Given the description of an element on the screen output the (x, y) to click on. 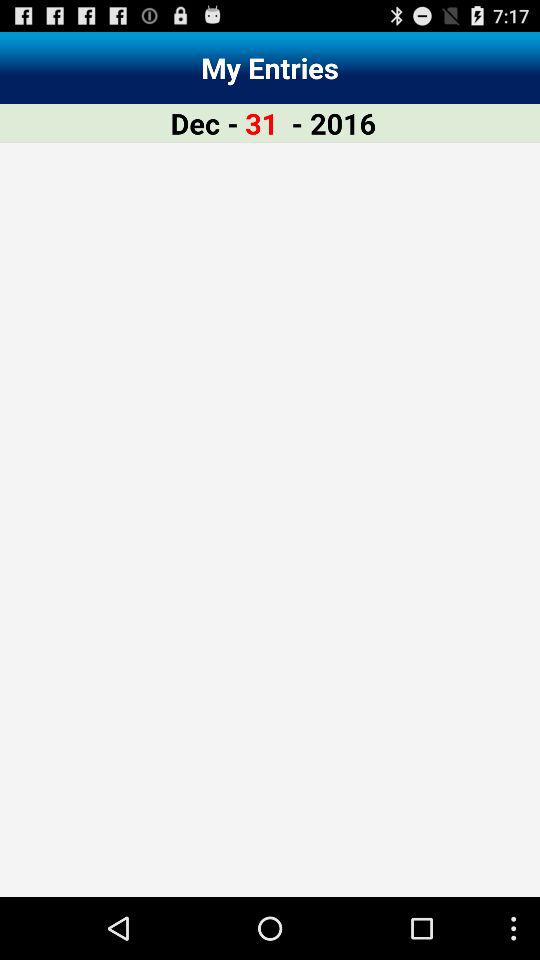
scroll to dec - item (204, 122)
